Given the description of an element on the screen output the (x, y) to click on. 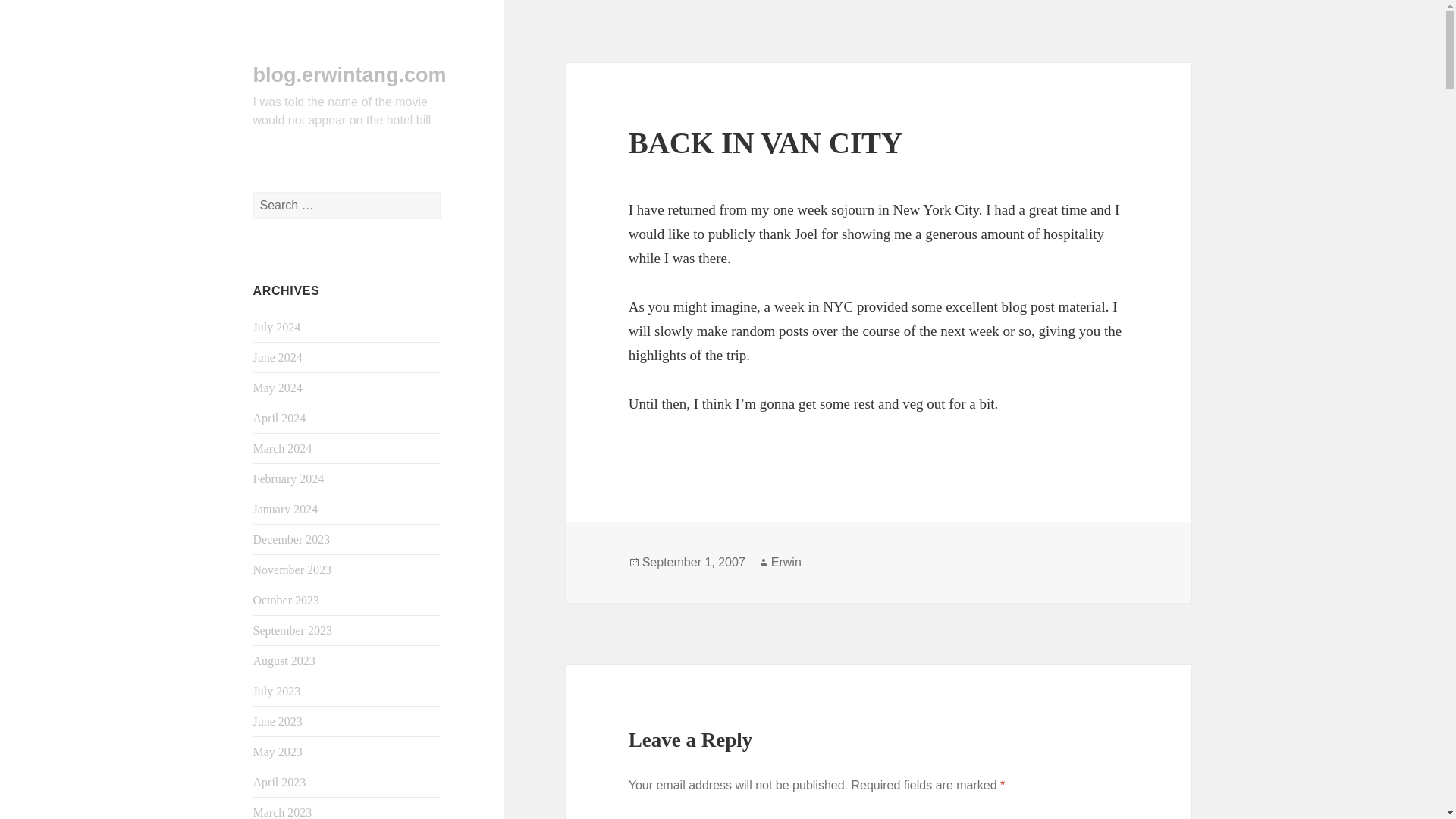
June 2024 (277, 357)
December 2023 (291, 539)
blog.erwintang.com (349, 74)
February 2024 (288, 478)
July 2024 (277, 327)
September 2023 (292, 630)
May 2023 (277, 751)
March 2023 (283, 812)
January 2024 (285, 508)
May 2024 (277, 387)
April 2024 (279, 418)
October 2023 (286, 599)
July 2023 (277, 690)
November 2023 (292, 569)
